Given the description of an element on the screen output the (x, y) to click on. 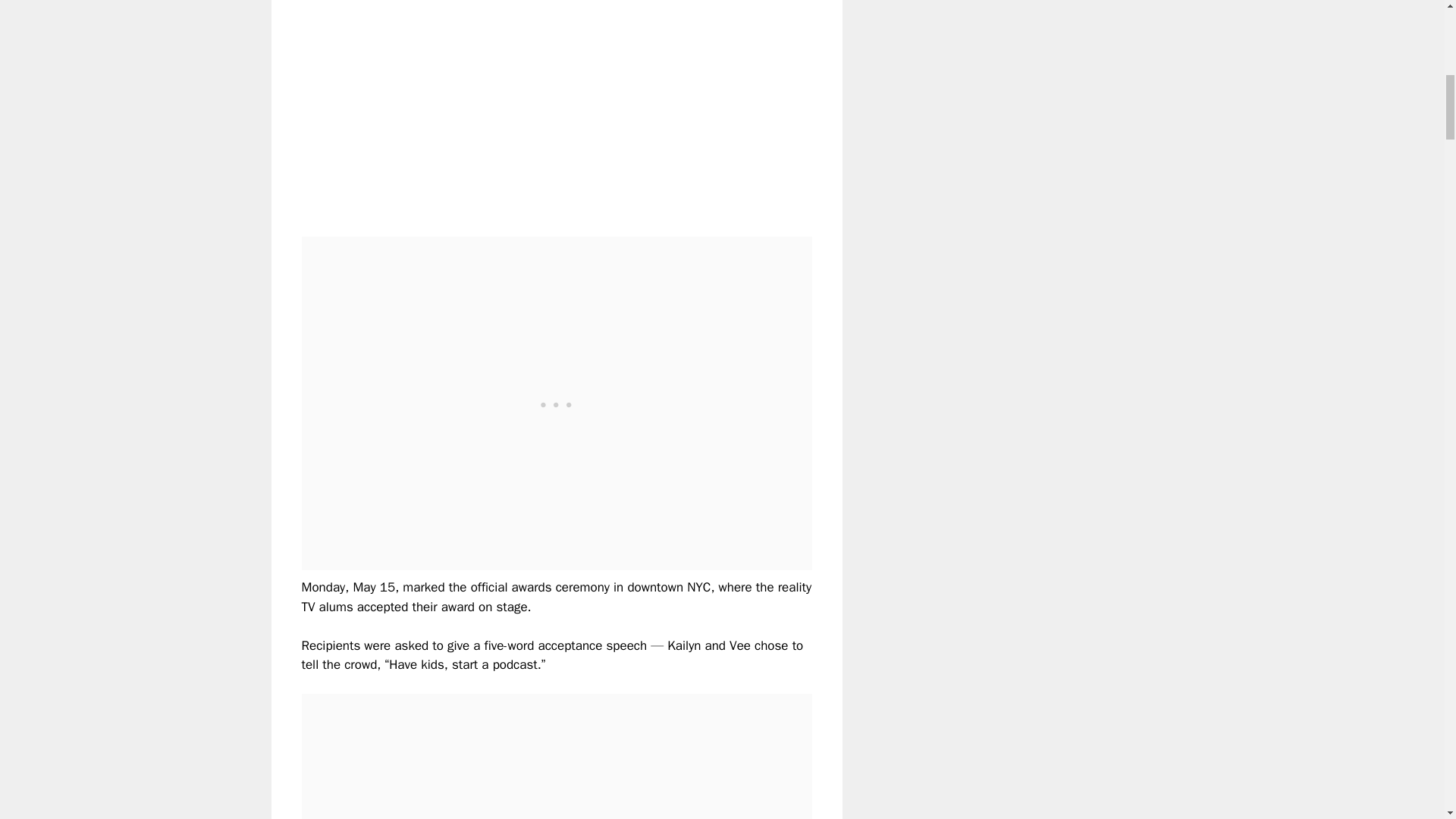
YouTube video player (513, 105)
